Given the description of an element on the screen output the (x, y) to click on. 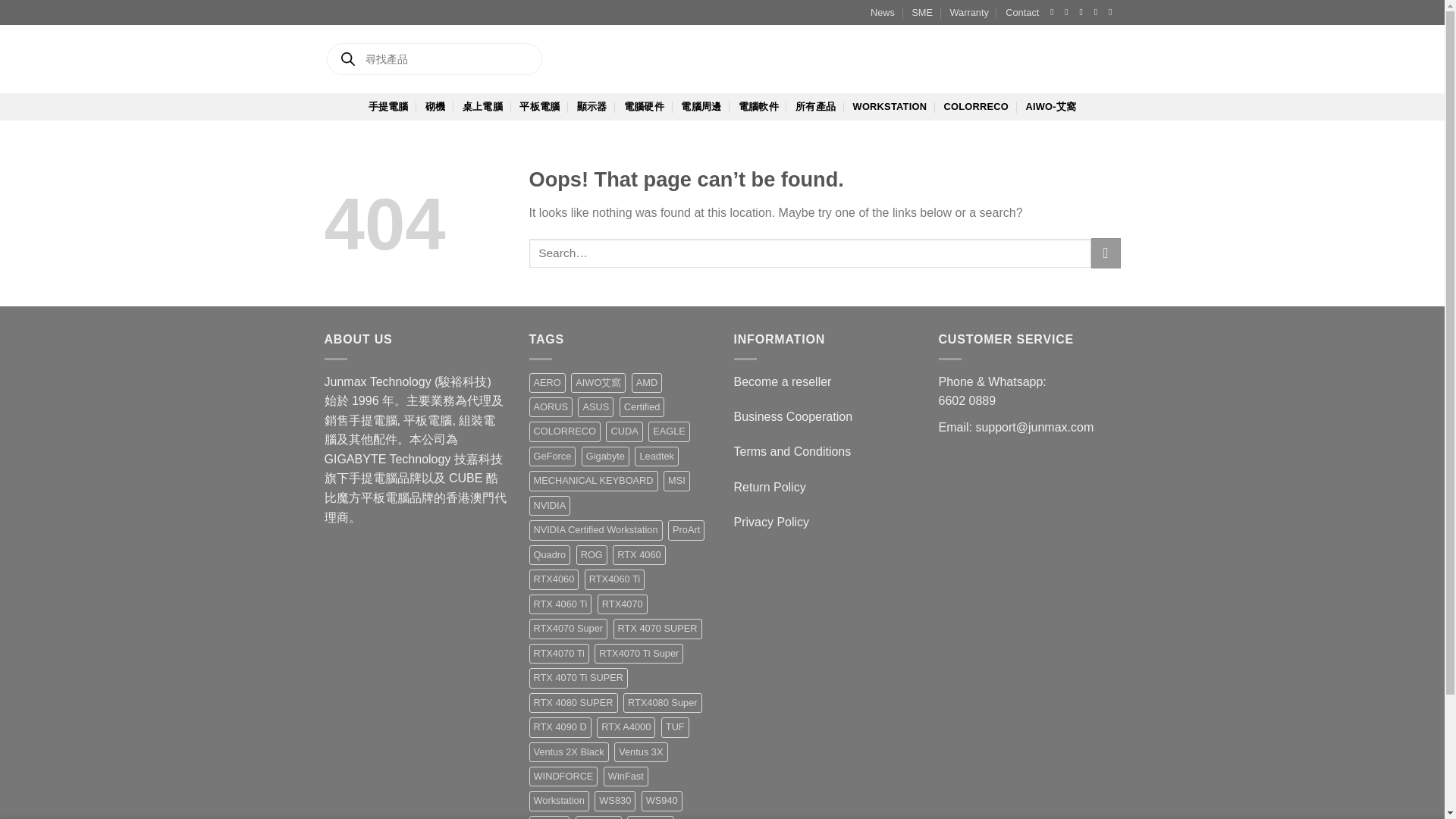
WORKSTATION (890, 106)
Login (975, 58)
COLORRECO (976, 106)
News (882, 12)
Warranty (968, 12)
Contact (1022, 12)
MENU (1085, 58)
Cart (1033, 58)
